Given the description of an element on the screen output the (x, y) to click on. 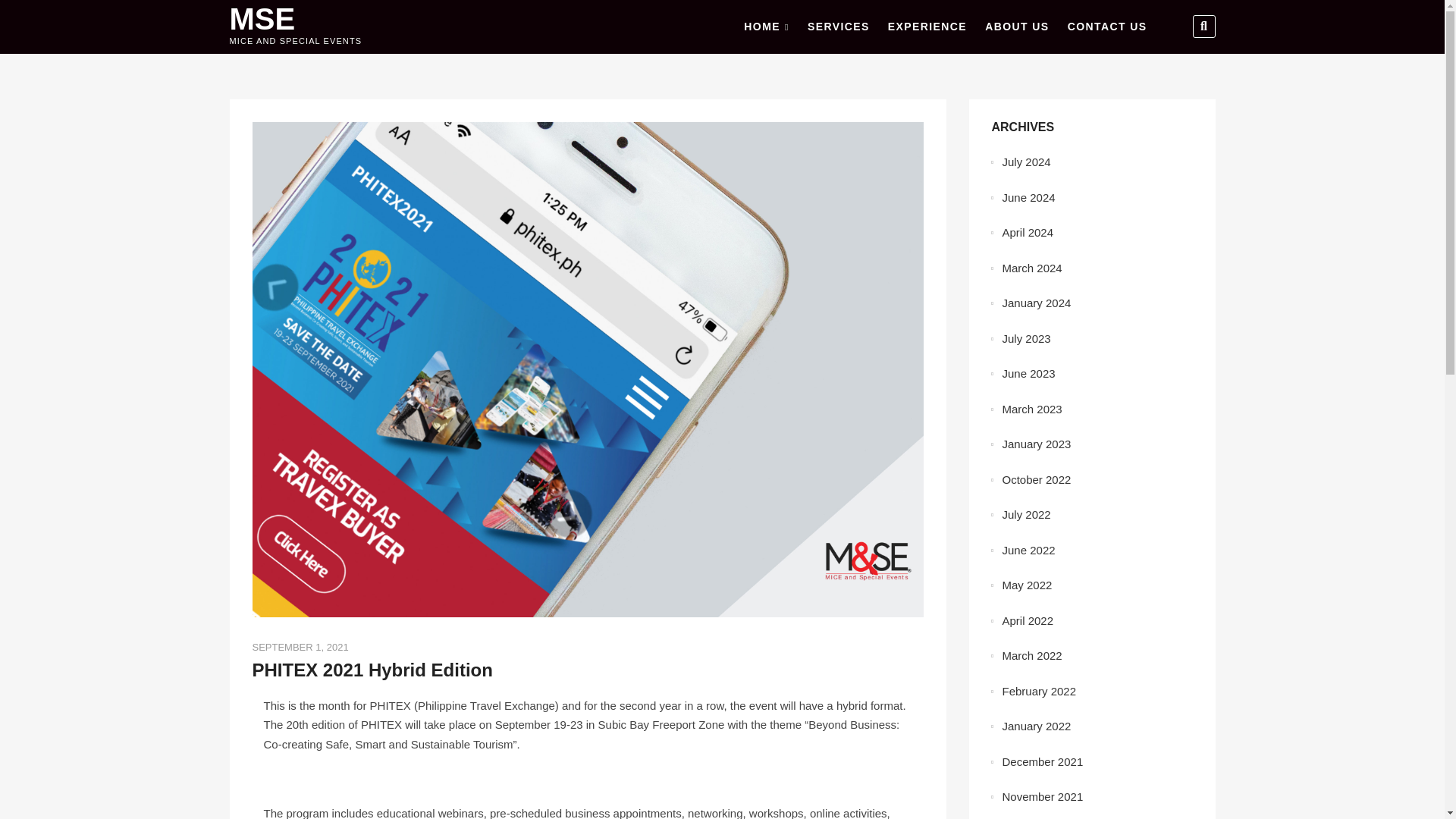
April 2022 (1028, 620)
November 2021 (1043, 796)
December 2021 (1043, 761)
April 2024 (1028, 232)
EXPERIENCE (927, 26)
July 2022 (1027, 513)
CONTACT US (1106, 26)
PHITEX 2021 Hybrid Edition (371, 670)
May 2022 (1027, 584)
July 2024 (1027, 161)
March 2024 (1032, 267)
September 1, 2021 (299, 646)
MSE (294, 19)
June 2022 (1029, 549)
HOME (766, 27)
